Given the description of an element on the screen output the (x, y) to click on. 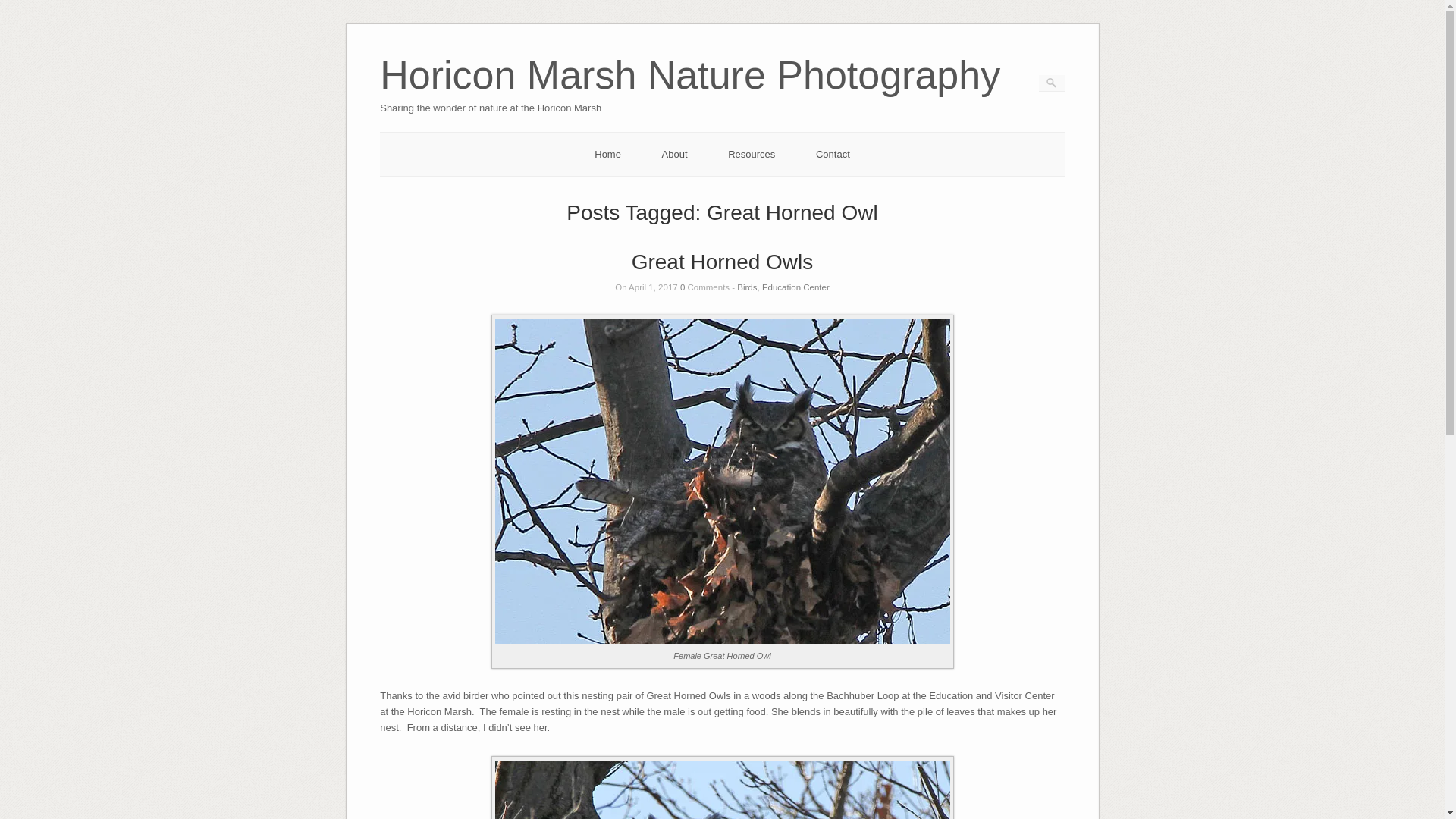
Home (607, 153)
Education Center (795, 286)
About (674, 153)
Great Horned Owls (722, 261)
Contact (832, 153)
Resources (751, 153)
Search (21, 7)
Sharing the wonder of nature at the Horicon Marsh (690, 96)
Birds (746, 286)
